Given the description of an element on the screen output the (x, y) to click on. 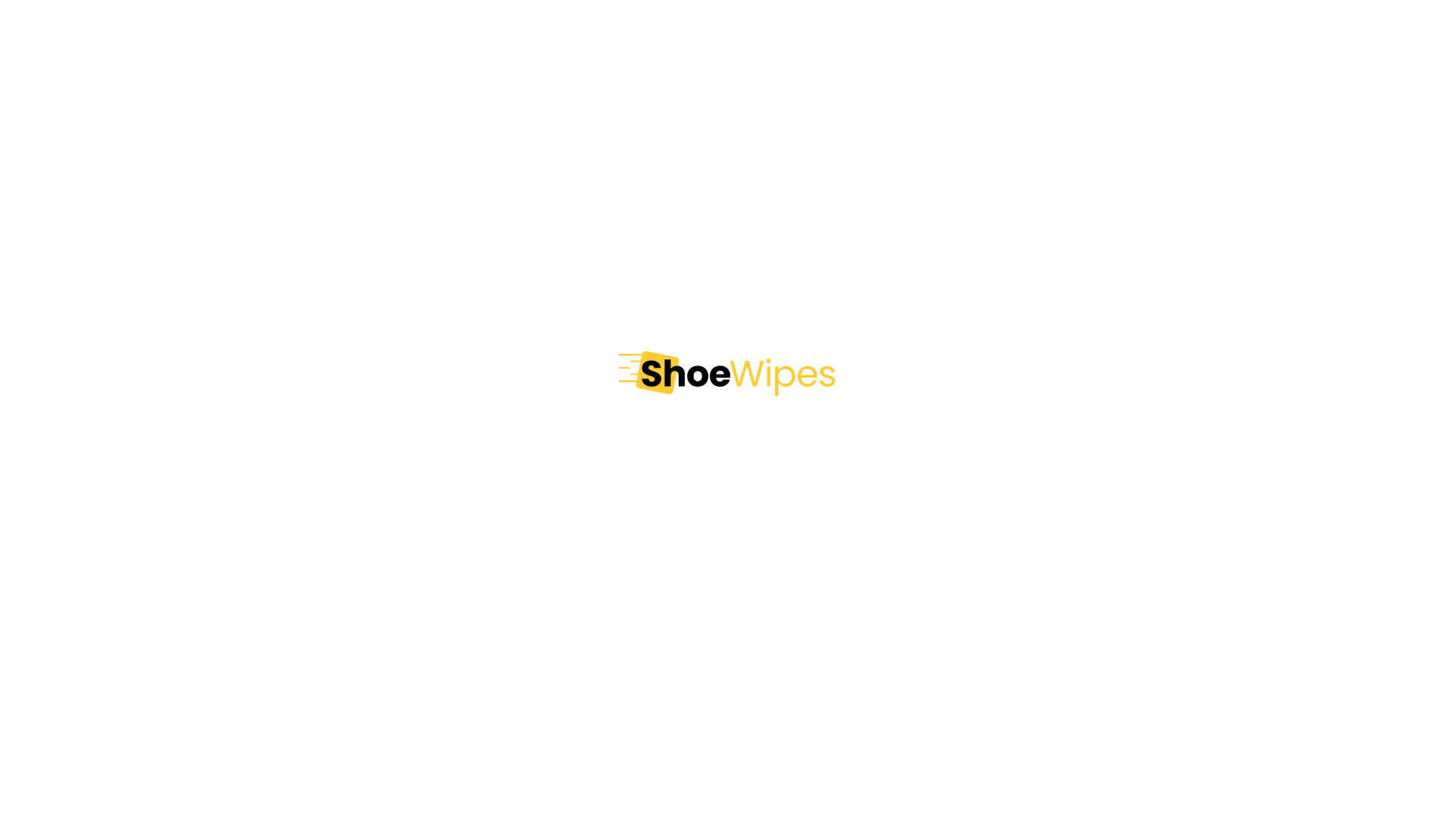
Shoe Wipes Element type: hover (727, 372)
